Given the description of an element on the screen output the (x, y) to click on. 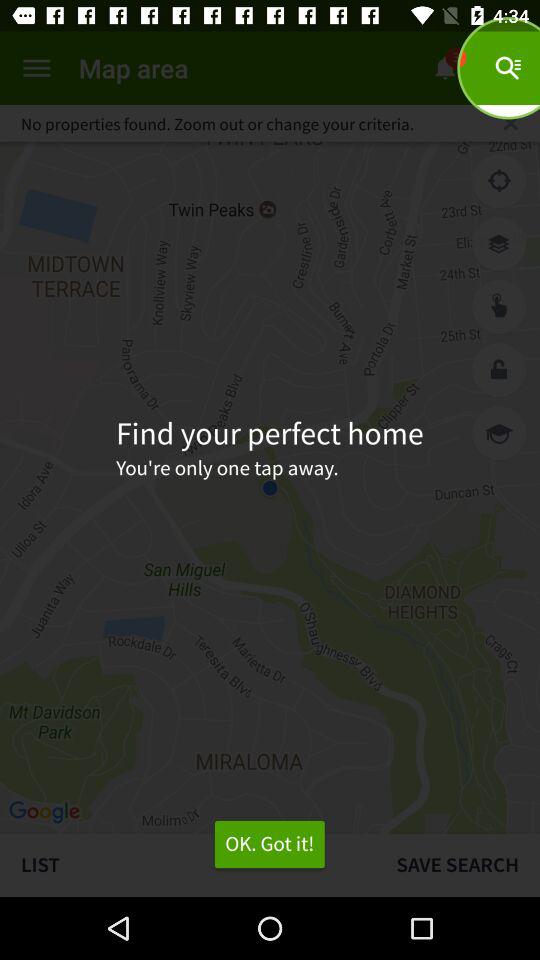
select the icon to the right of no properties found (510, 123)
